Given the description of an element on the screen output the (x, y) to click on. 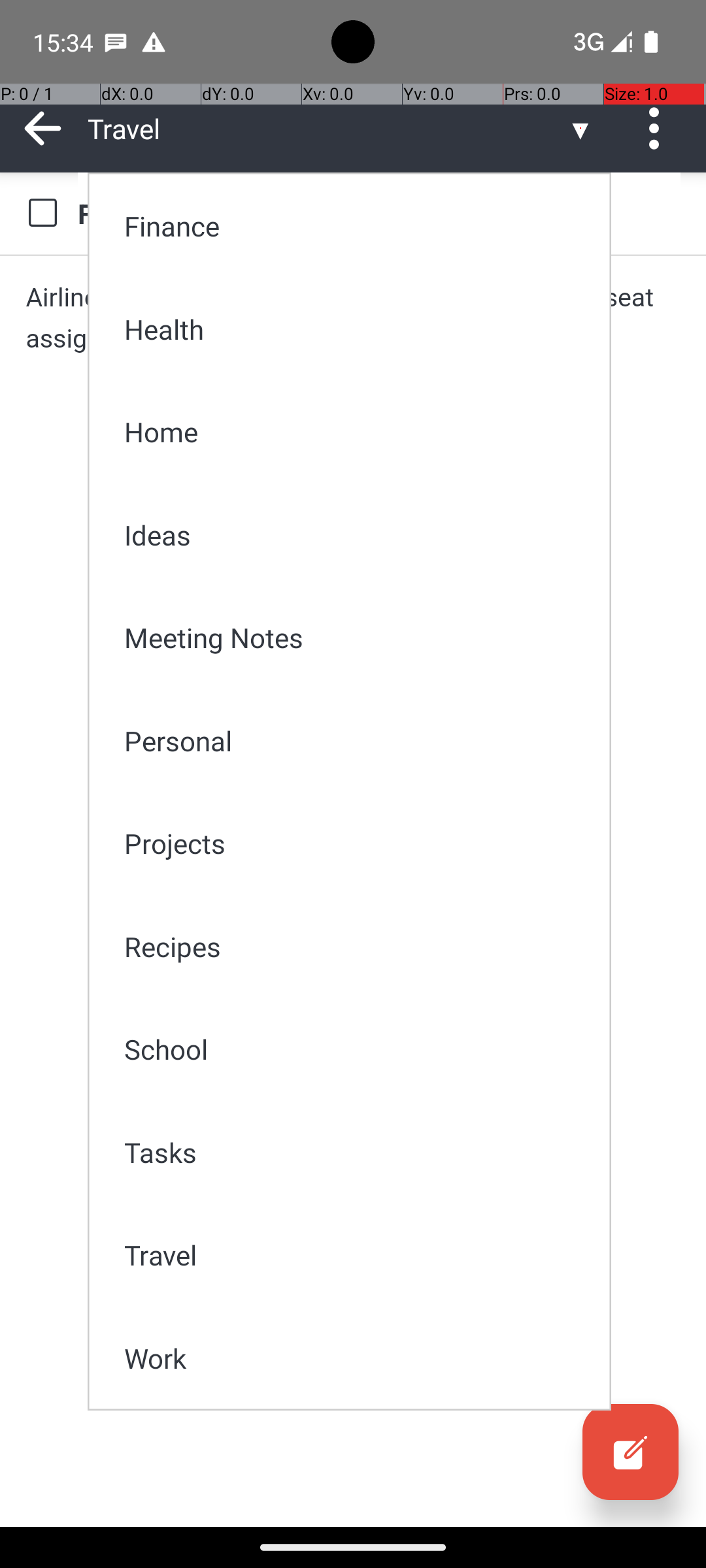
Finance Element type: android.widget.TextView (358, 225)
Health Element type: android.widget.TextView (358, 328)
Ideas Element type: android.widget.TextView (358, 534)
Meeting Notes Element type: android.widget.TextView (358, 636)
Personal Element type: android.widget.TextView (358, 740)
Projects Element type: android.widget.TextView (358, 842)
Recipes Element type: android.widget.TextView (358, 945)
School Element type: android.widget.TextView (358, 1048)
Tasks Element type: android.widget.TextView (358, 1151)
Travel Element type: android.widget.TextView (358, 1254)
Work Element type: android.widget.TextView (358, 1357)
